Given the description of an element on the screen output the (x, y) to click on. 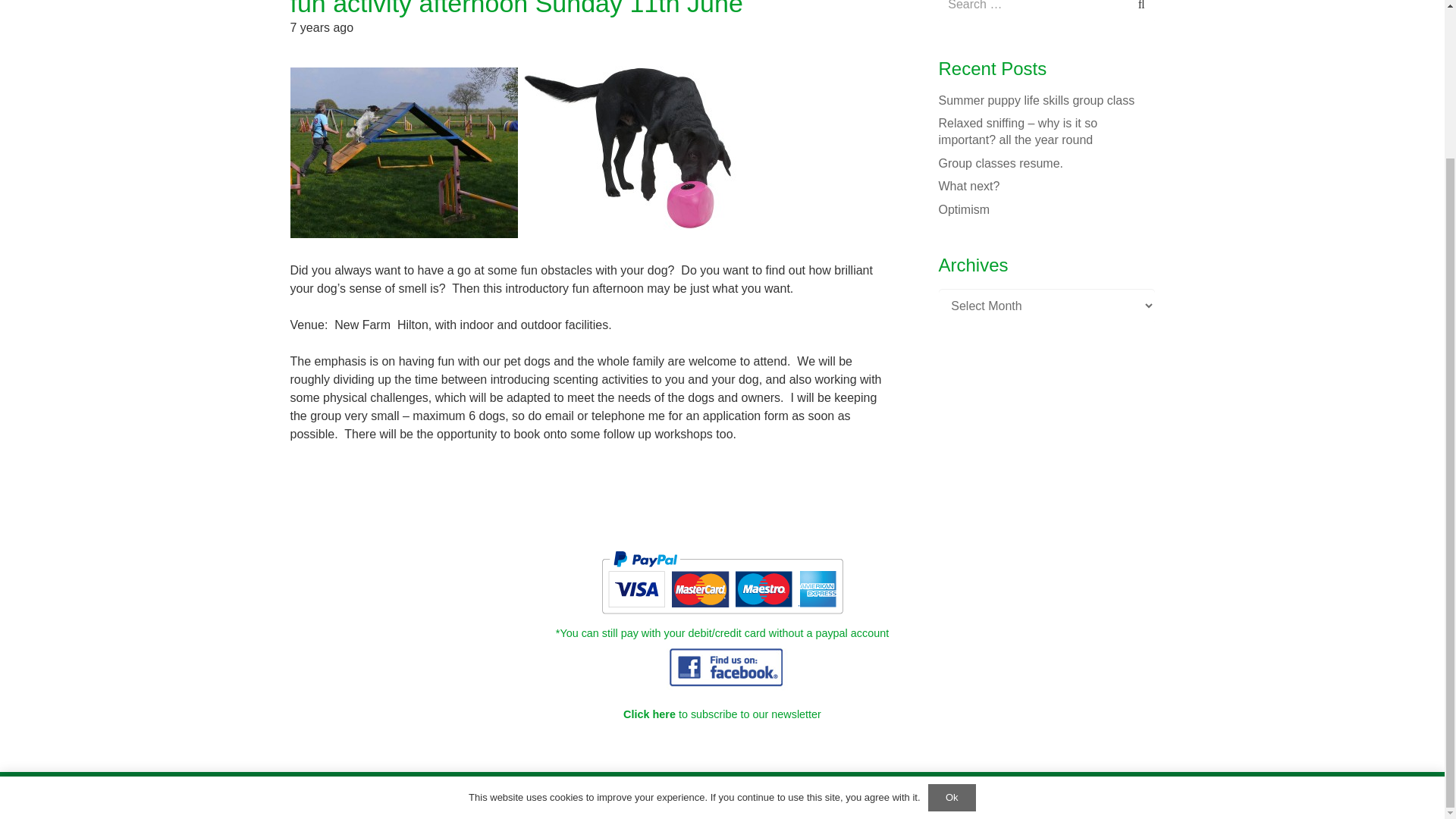
Optimism (964, 209)
Capture Design (912, 798)
Group classes resume. (1001, 163)
Summer puppy life skills group class (1037, 100)
Click here (649, 714)
Ok (951, 611)
What next? (969, 185)
Search (1137, 11)
